Given the description of an element on the screen output the (x, y) to click on. 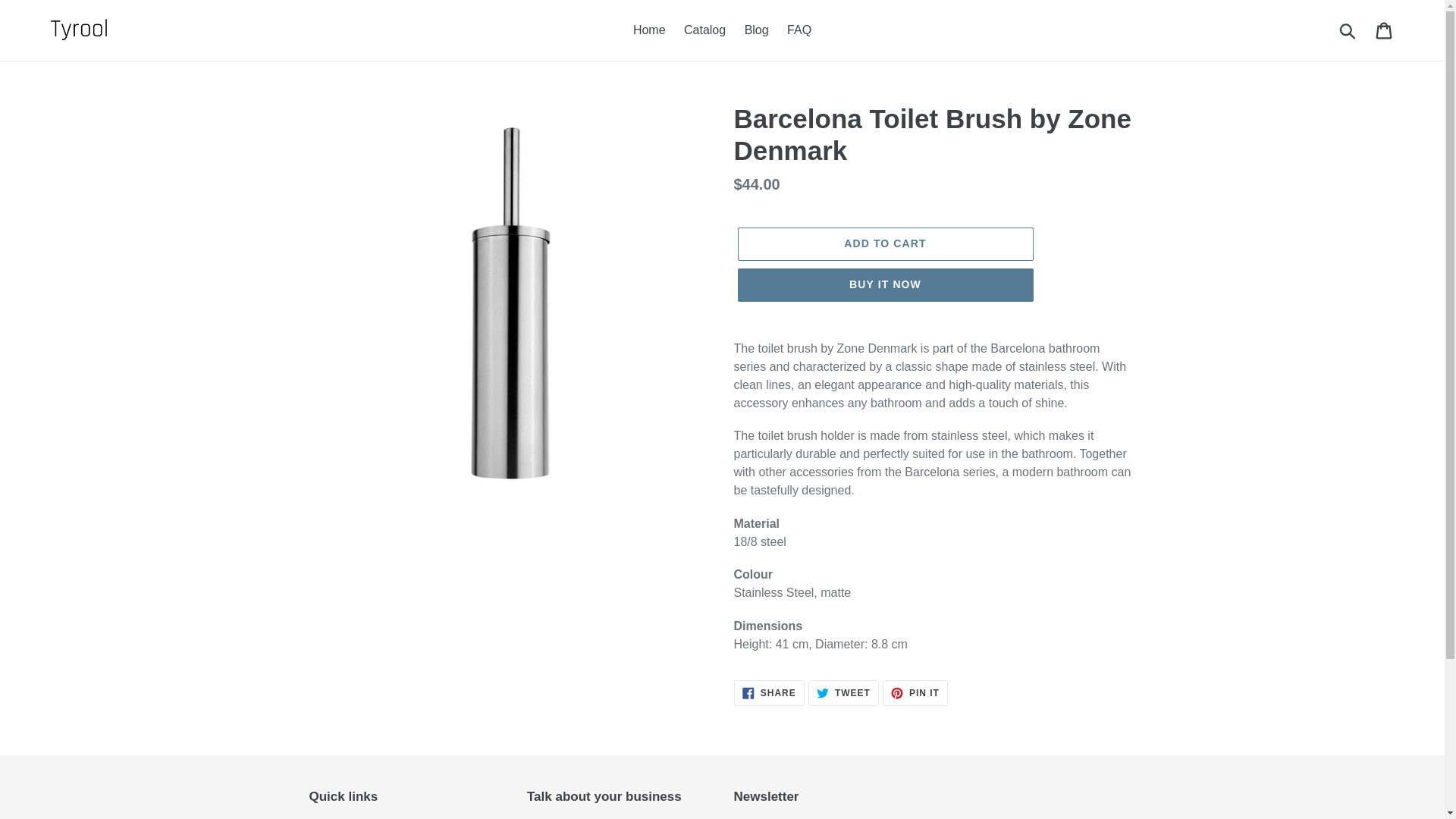
ADD TO CART (843, 692)
Home (884, 244)
Cart (649, 29)
Catalog (1385, 29)
Submit (914, 692)
BUY IT NOW (705, 29)
FAQ (1348, 29)
Blog (884, 285)
